Given the description of an element on the screen output the (x, y) to click on. 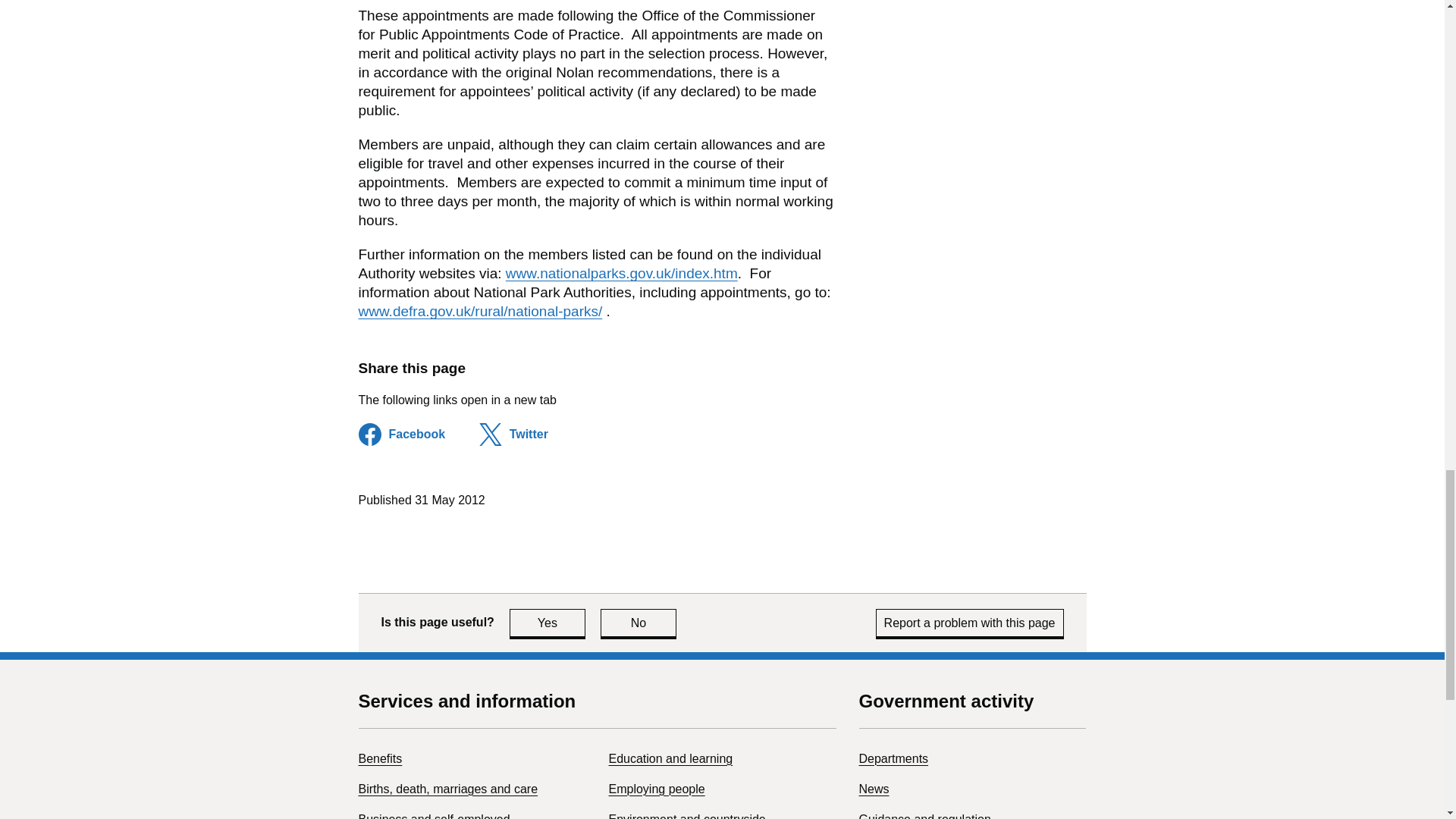
News (873, 788)
Departments (893, 758)
Environment and countryside (686, 816)
Report a problem with this page (970, 623)
Guidance and regulation (924, 816)
Employing people (547, 623)
Births, death, marriages and care (656, 788)
Education and learning (447, 788)
Benefits (670, 758)
Business and self-employed (379, 758)
